Given the description of an element on the screen output the (x, y) to click on. 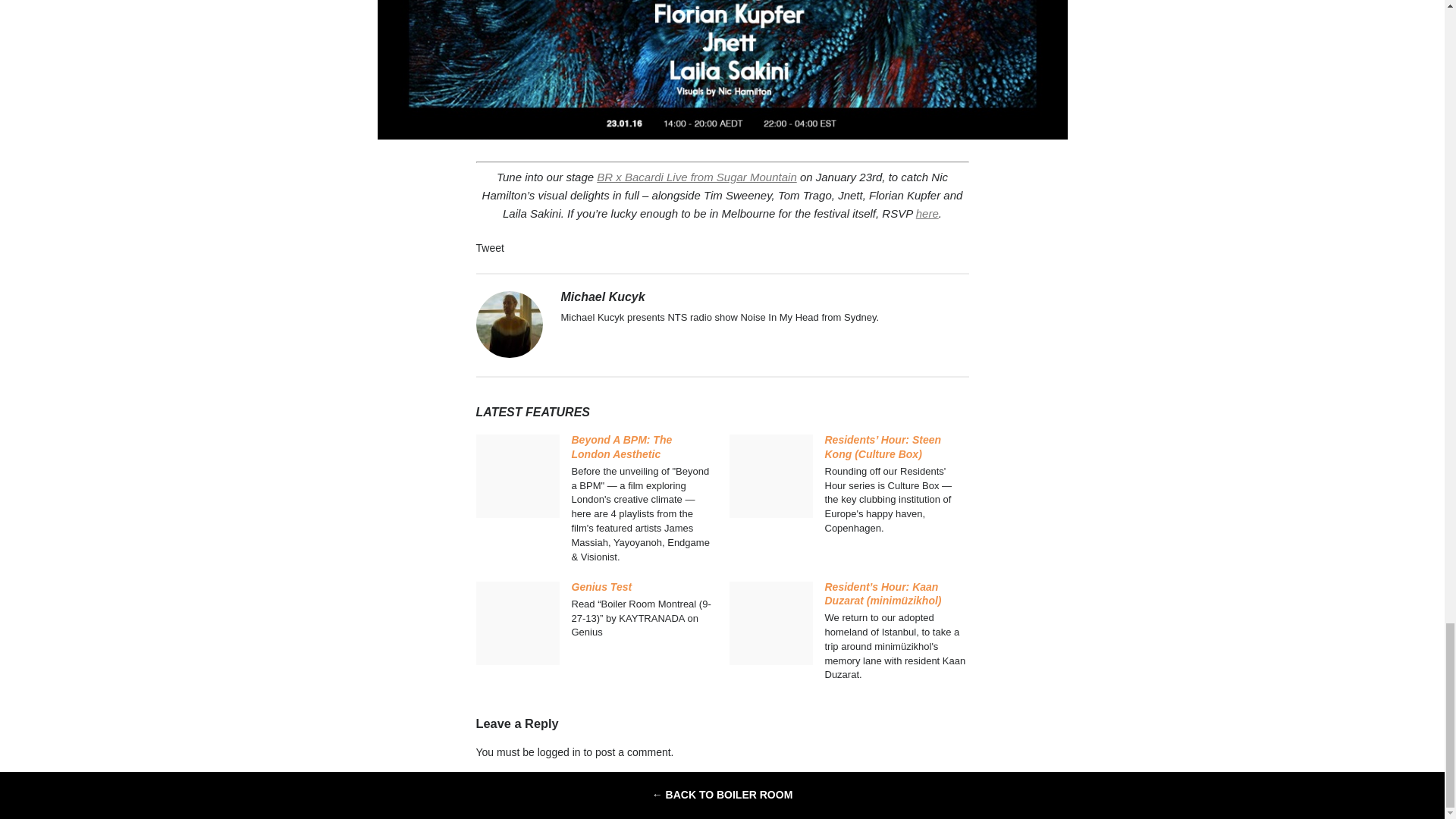
Beyond A BPM: The London Aesthetic (622, 446)
Genius Test (601, 586)
here (927, 213)
Tweet (489, 247)
BR x Bacardi Live from Sugar Mountain (696, 176)
